Given the description of an element on the screen output the (x, y) to click on. 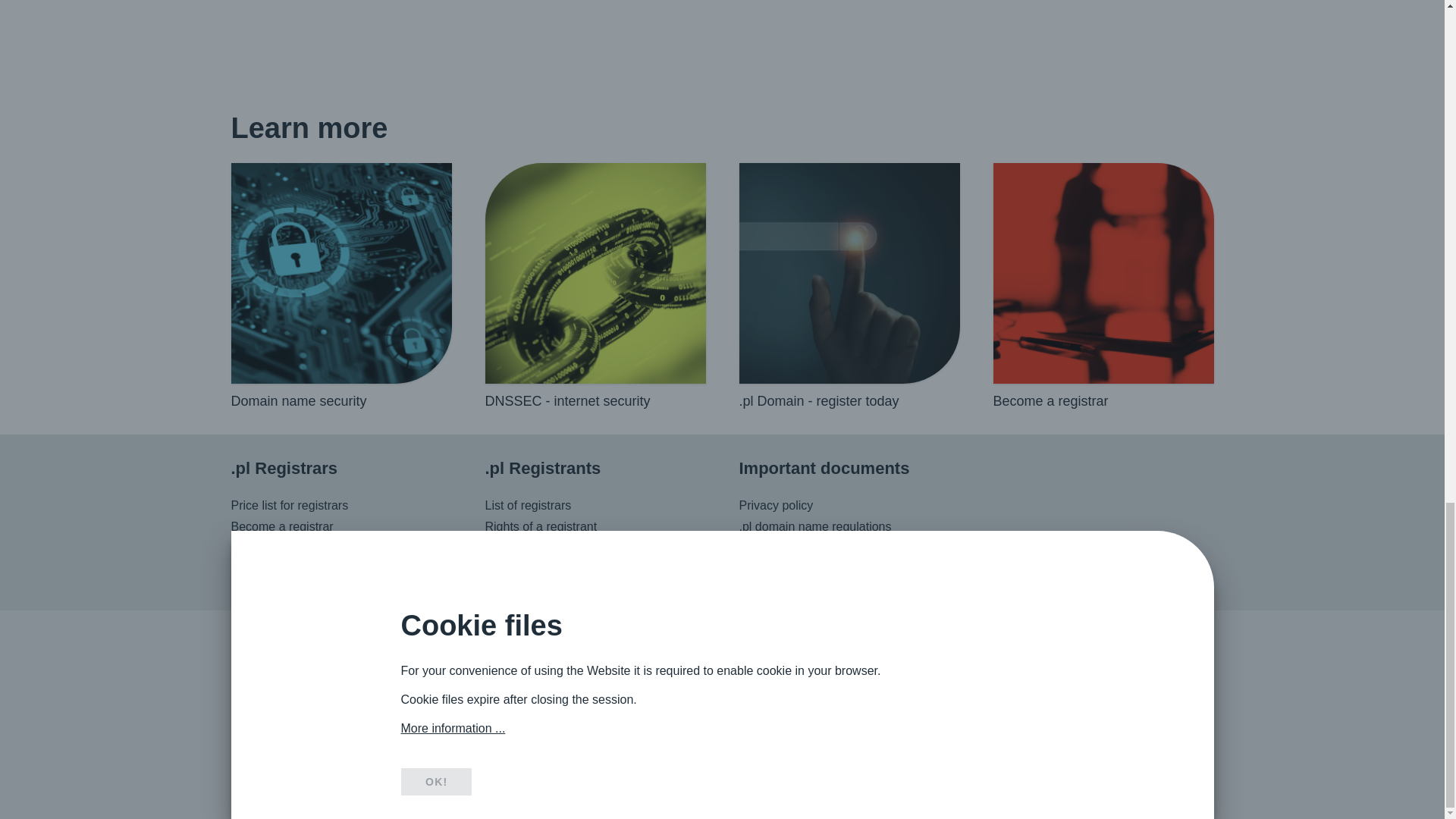
Facebook (737, 691)
Linkedin (711, 691)
CENTR (1097, 711)
YouTube (765, 691)
Bureau Veritas (1173, 711)
RSS (791, 691)
Twitter (685, 691)
Information security (1040, 711)
